Given the description of an element on the screen output the (x, y) to click on. 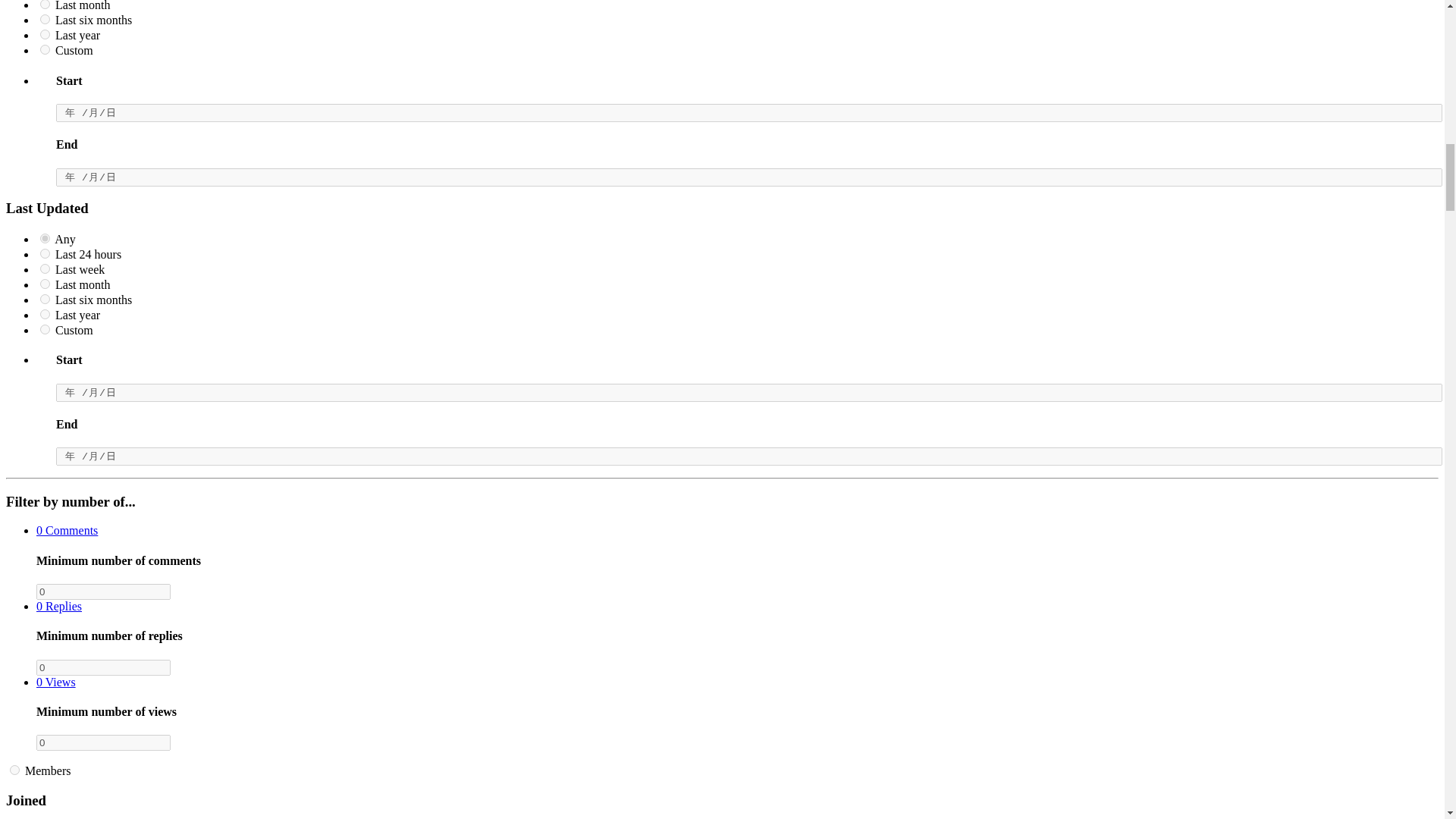
year (44, 34)
month (44, 4)
